Given the description of an element on the screen output the (x, y) to click on. 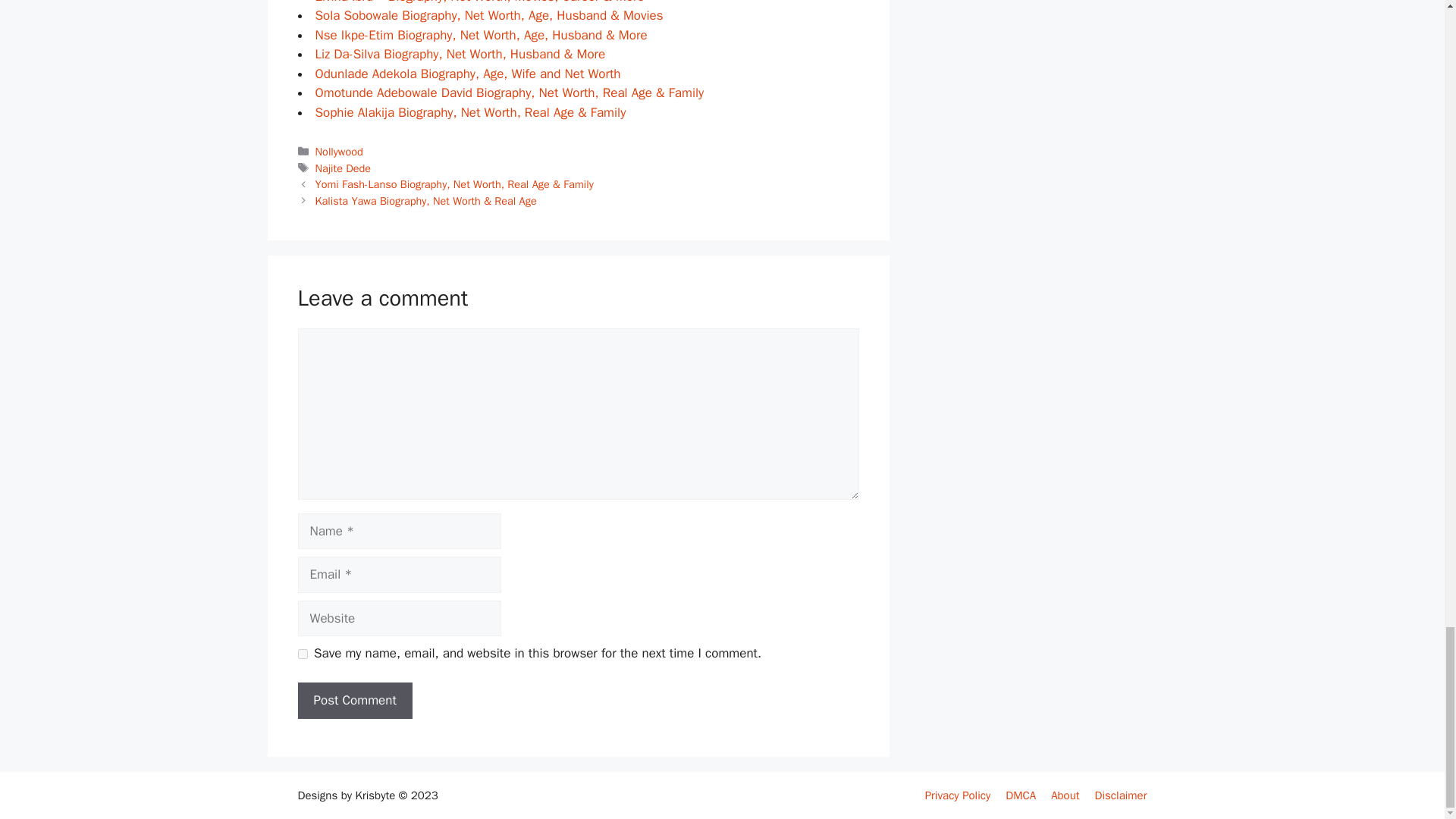
Odunlade Adekola Biography, Age, Wife and Net Worth (468, 73)
Post Comment (354, 700)
About (1064, 795)
Disclaimer (1120, 795)
Najite Dede (343, 168)
Post Comment (354, 700)
Odunlade Adekola Biography, Age, Wife and Net Worth (468, 73)
Nollywood (338, 151)
Privacy Policy (957, 795)
DMCA (1020, 795)
